Given the description of an element on the screen output the (x, y) to click on. 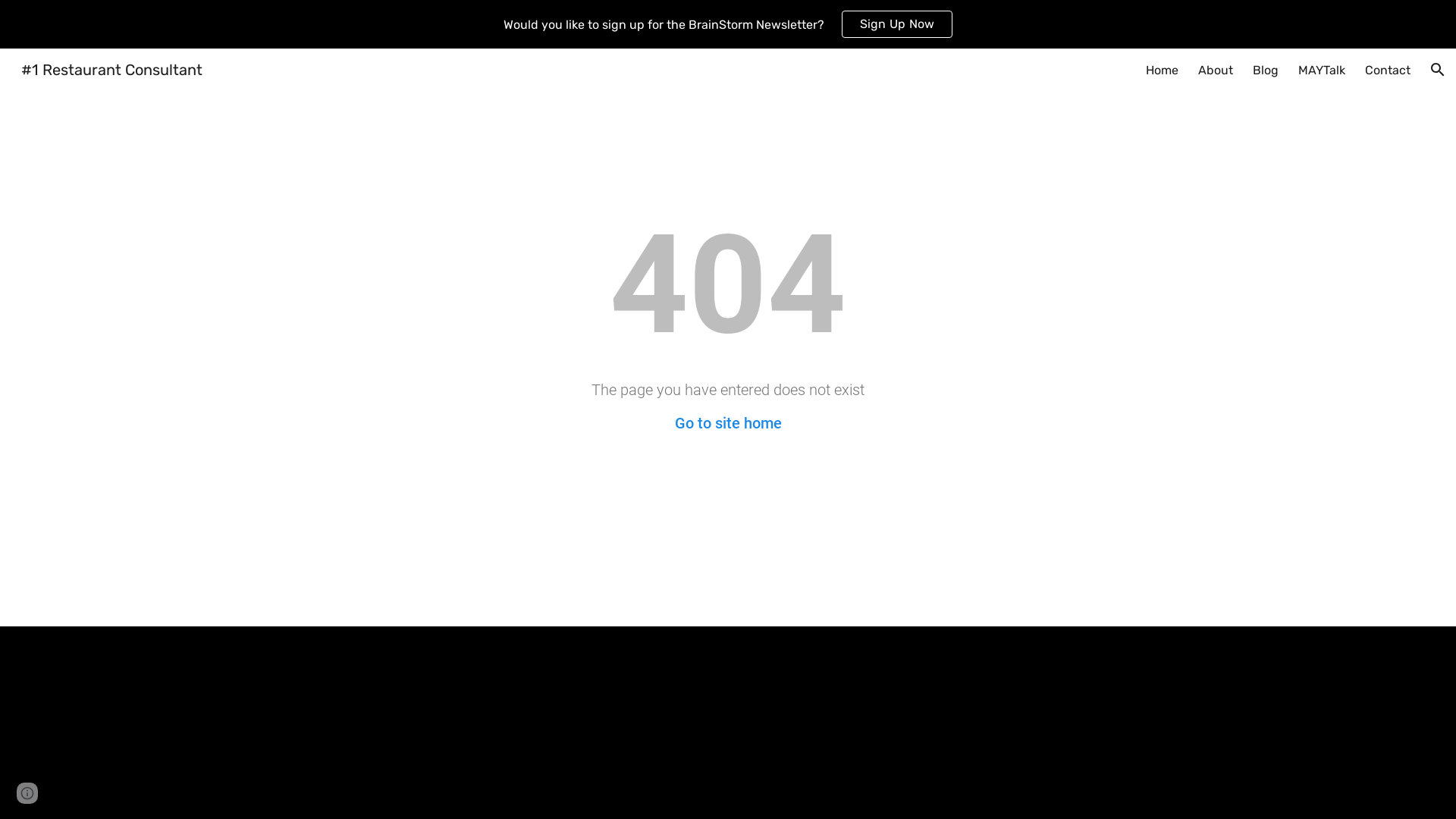
Go to site home Element type: text (727, 423)
Home Element type: text (1161, 69)
Blog Element type: text (1265, 69)
MAYTalk Element type: text (1321, 69)
About Element type: text (1215, 69)
Sign Up Now Element type: text (897, 24)
Contact Element type: text (1387, 69)
#1 Restaurant Consultant Element type: text (111, 68)
